Given the description of an element on the screen output the (x, y) to click on. 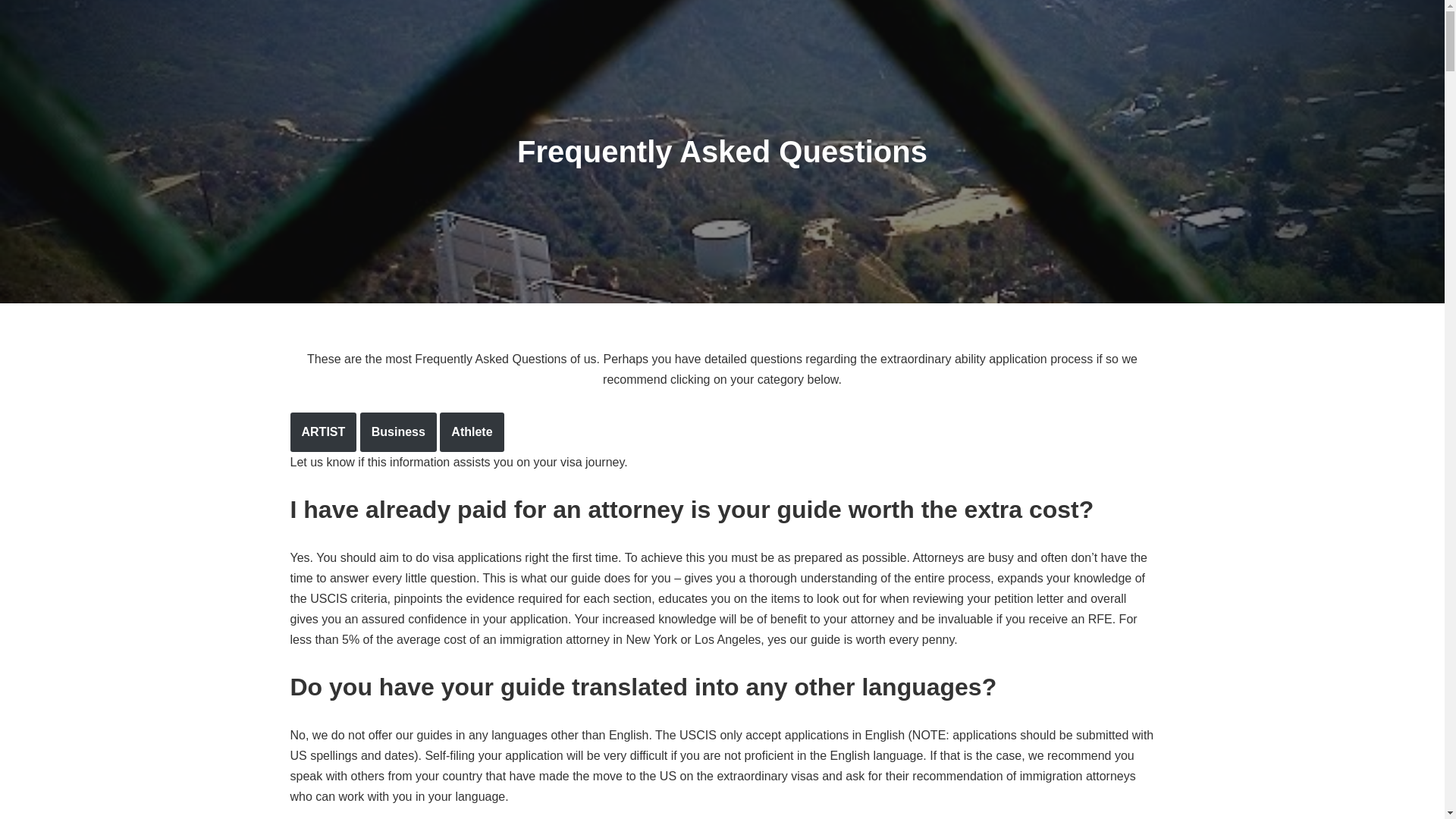
Athlete (471, 432)
Skip to content (11, 31)
Business (397, 432)
ARTIST (322, 432)
